Given the description of an element on the screen output the (x, y) to click on. 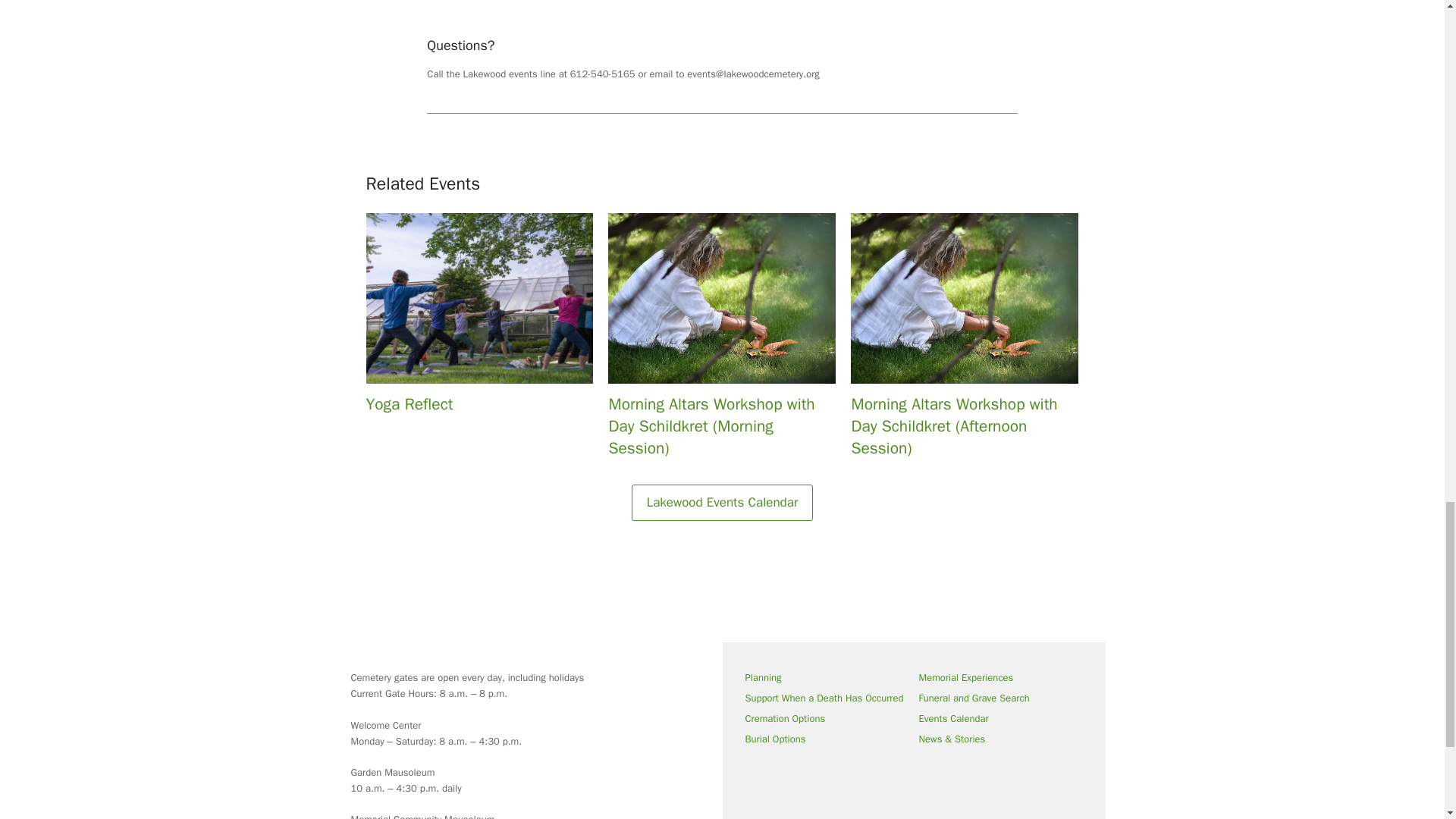
Yoga Reflect (478, 318)
